Given the description of an element on the screen output the (x, y) to click on. 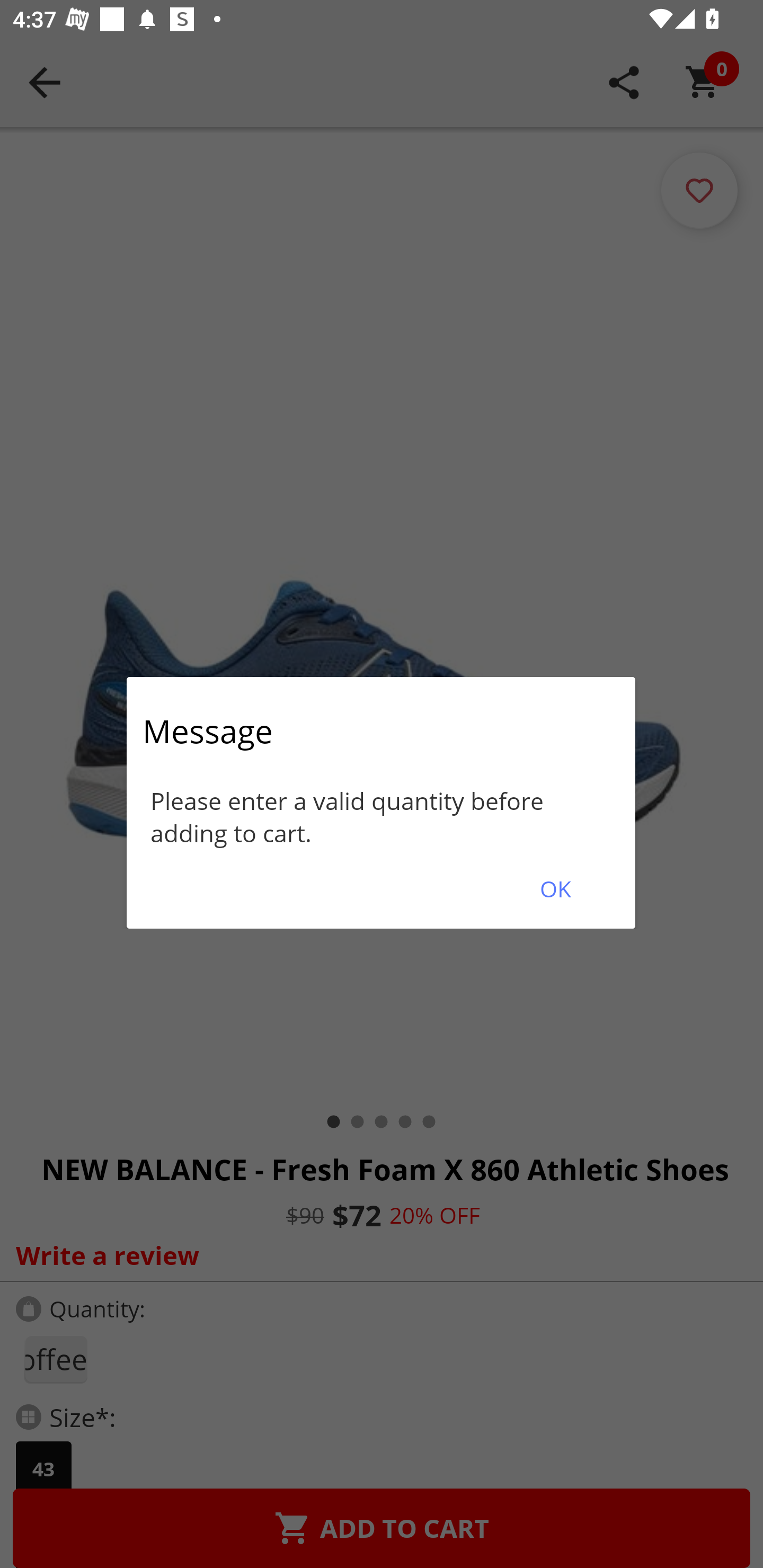
OK (555, 888)
